Given the description of an element on the screen output the (x, y) to click on. 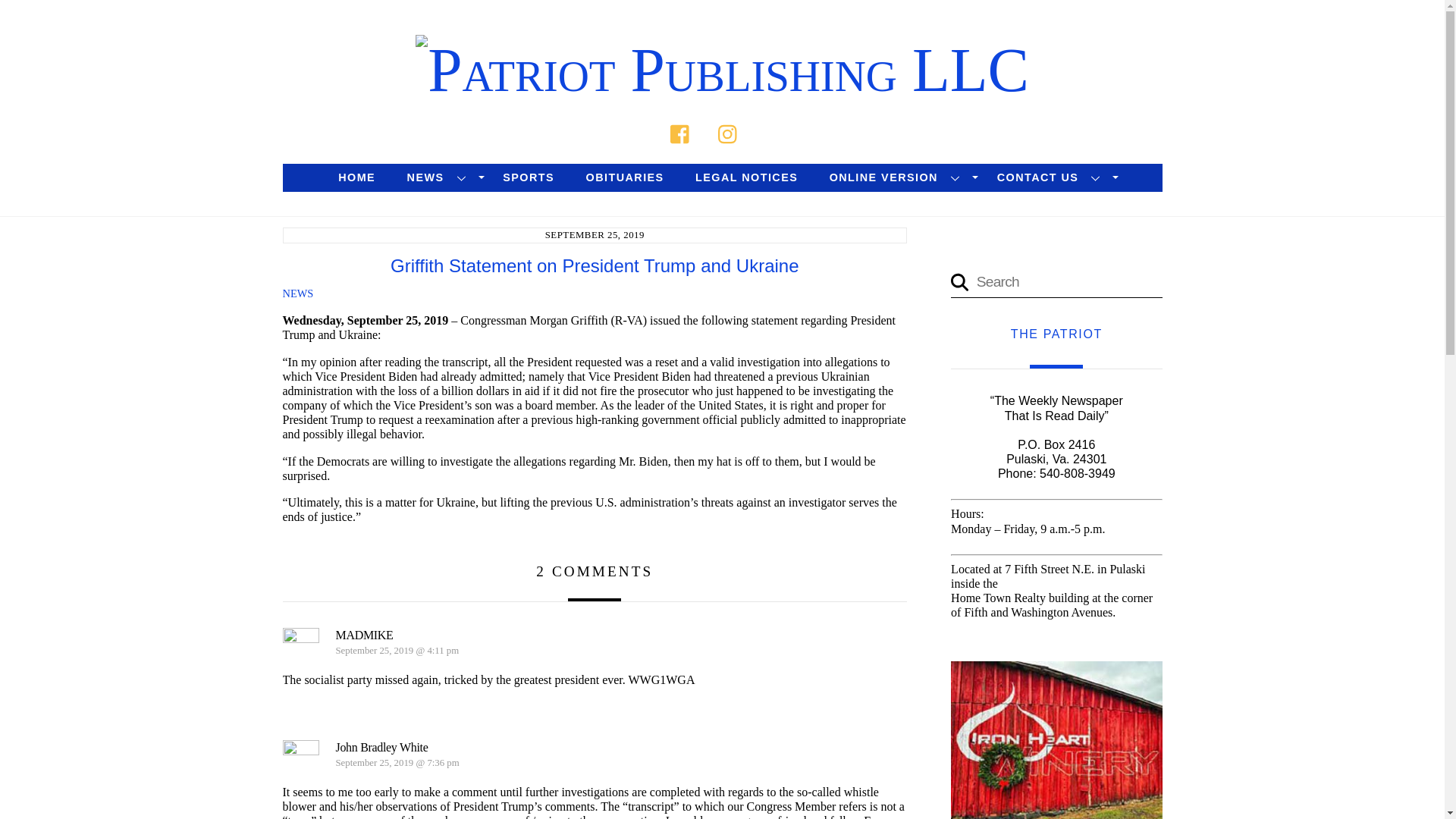
CONTACT US (1051, 176)
SPORTS (528, 176)
HOME (356, 176)
NEWS (297, 293)
LEGAL NOTICES (745, 176)
OBITUARIES (624, 176)
Search (1146, 132)
Search (1055, 281)
ONLINE VERSION (897, 176)
Patriot Publishing LLC (720, 70)
NEWS (439, 176)
